Given the description of an element on the screen output the (x, y) to click on. 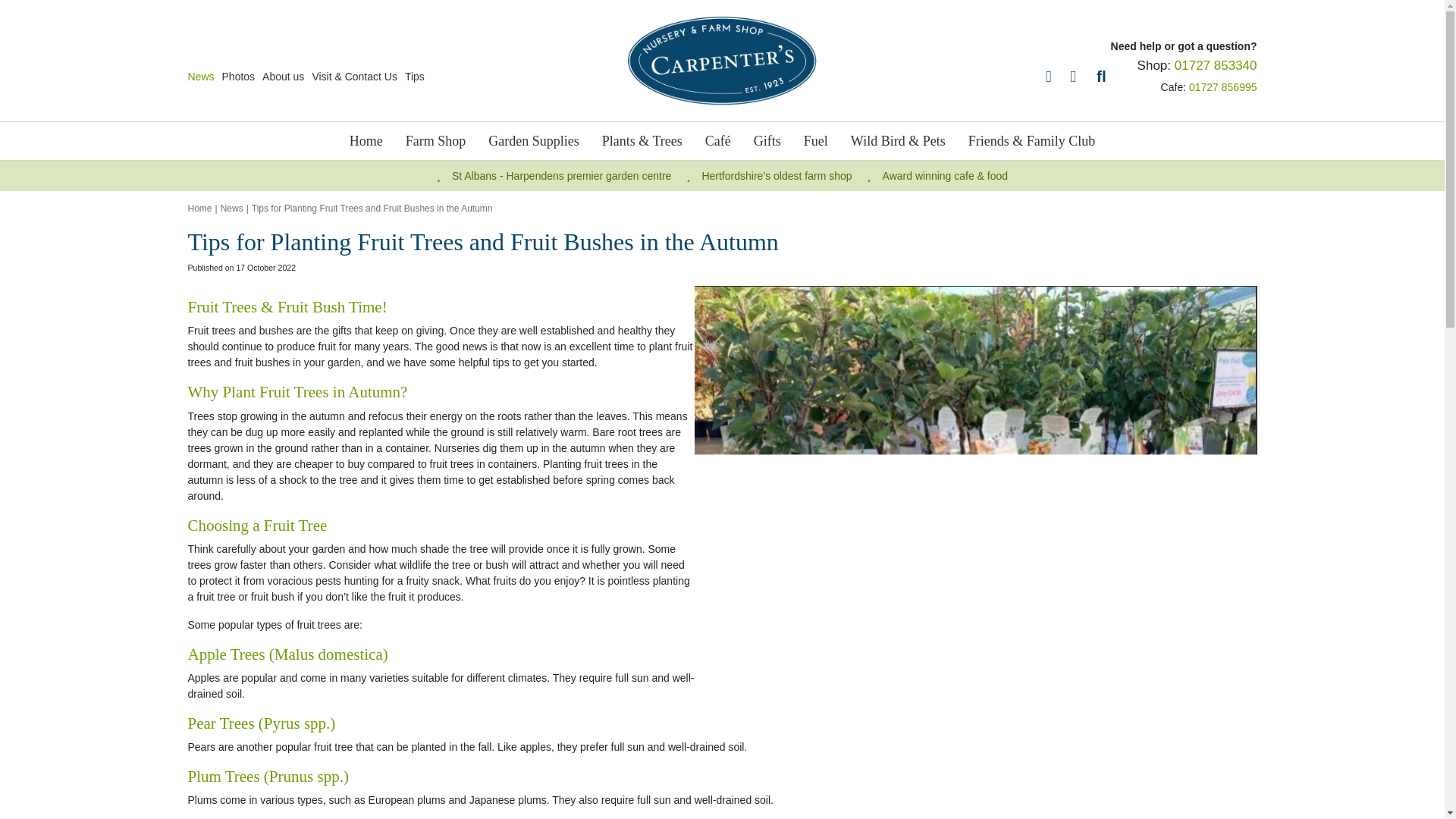
About us (283, 76)
Search (1241, 138)
Search (1241, 138)
News (200, 76)
Tips for Planting Fruit Trees and Fruit Bushes in the Autumn (372, 208)
Farm Shop (435, 140)
01727 856995 (1223, 86)
Tips (414, 76)
01727 853340 (1215, 65)
Garden Supplies (532, 140)
